Given the description of an element on the screen output the (x, y) to click on. 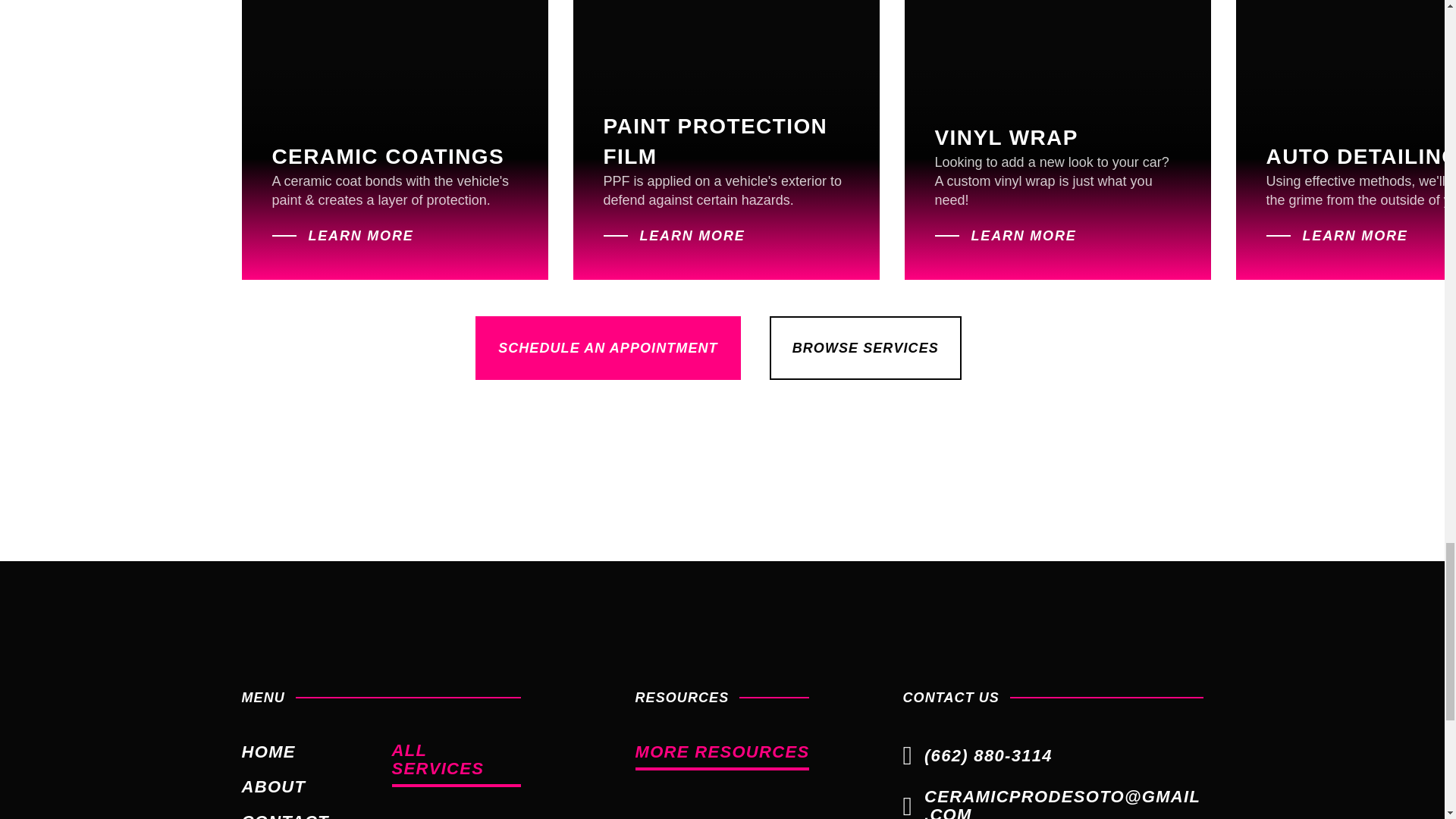
ALL SERVICES (455, 764)
HOME (268, 751)
MORE RESOURCES (721, 756)
CONTACT (285, 815)
ABOUT (273, 786)
BROWSE SERVICES (865, 348)
SCHEDULE AN APPOINTMENT (608, 348)
